Given the description of an element on the screen output the (x, y) to click on. 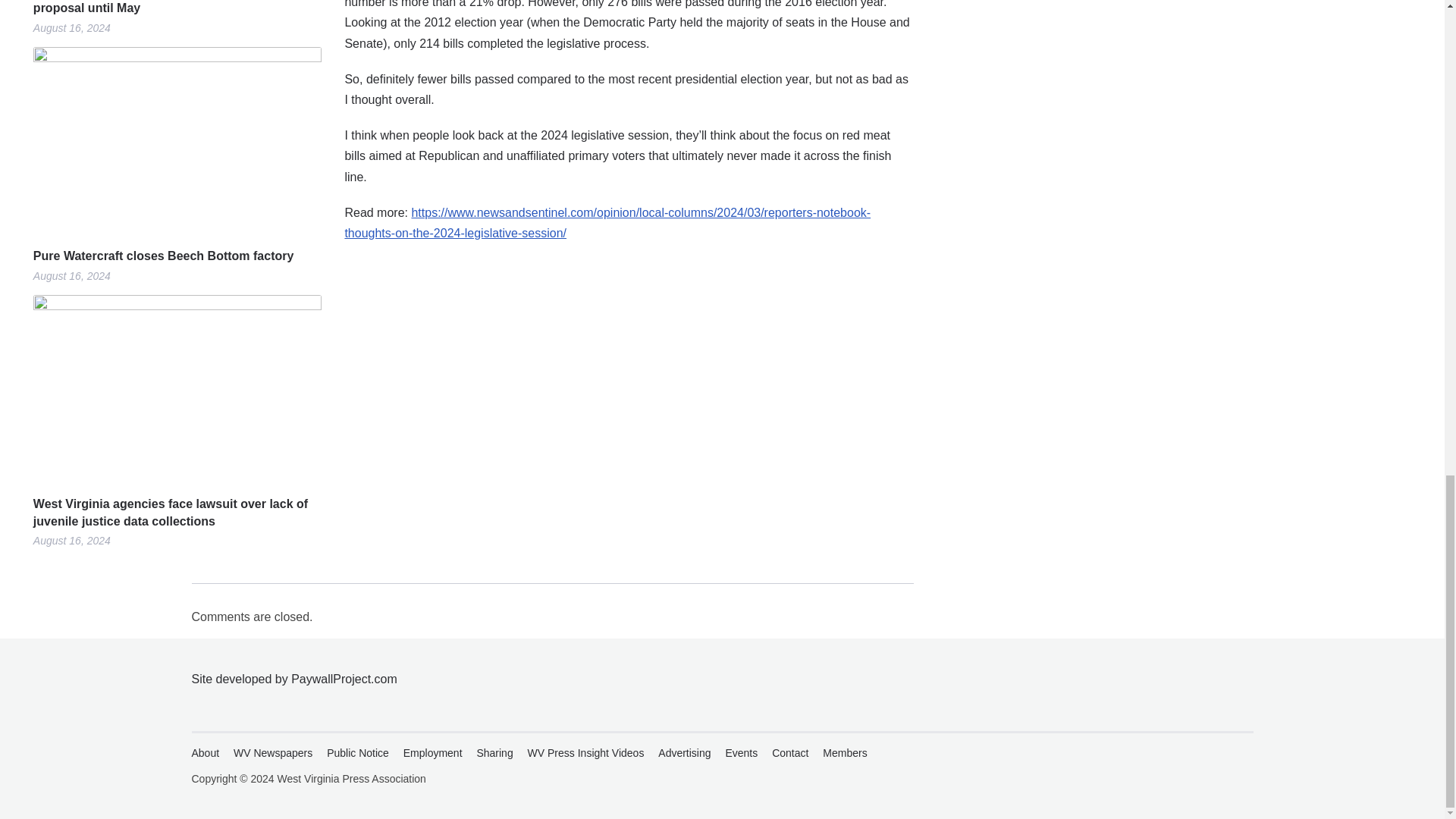
Permalink to Pure Watercraft closes Beech Bottom factory (177, 256)
Permalink to Pure Watercraft closes Beech Bottom factory (177, 141)
